Given the description of an element on the screen output the (x, y) to click on. 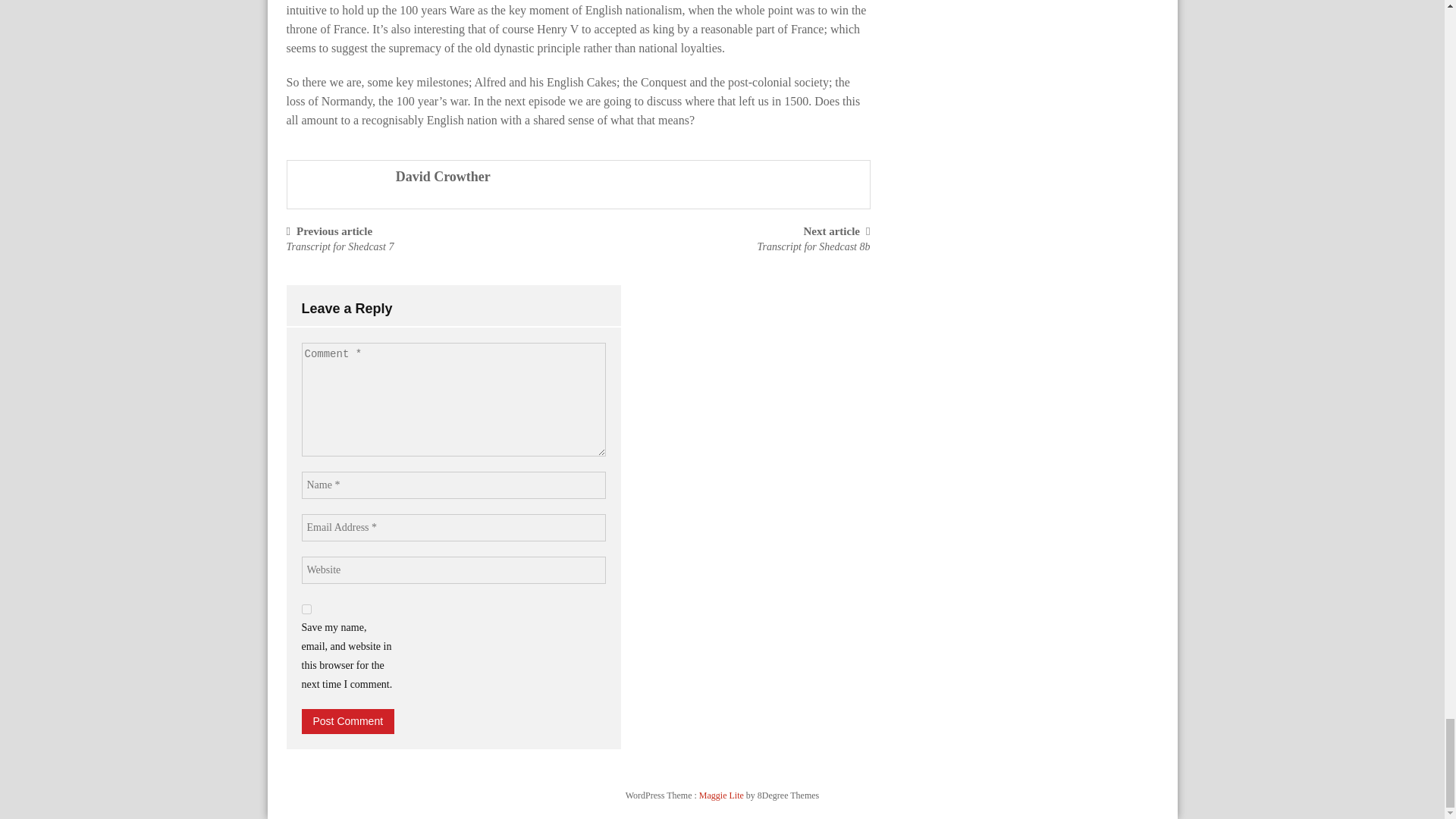
Post Comment (347, 721)
yes (306, 609)
Free WordPress Theme (721, 795)
